Given the description of an element on the screen output the (x, y) to click on. 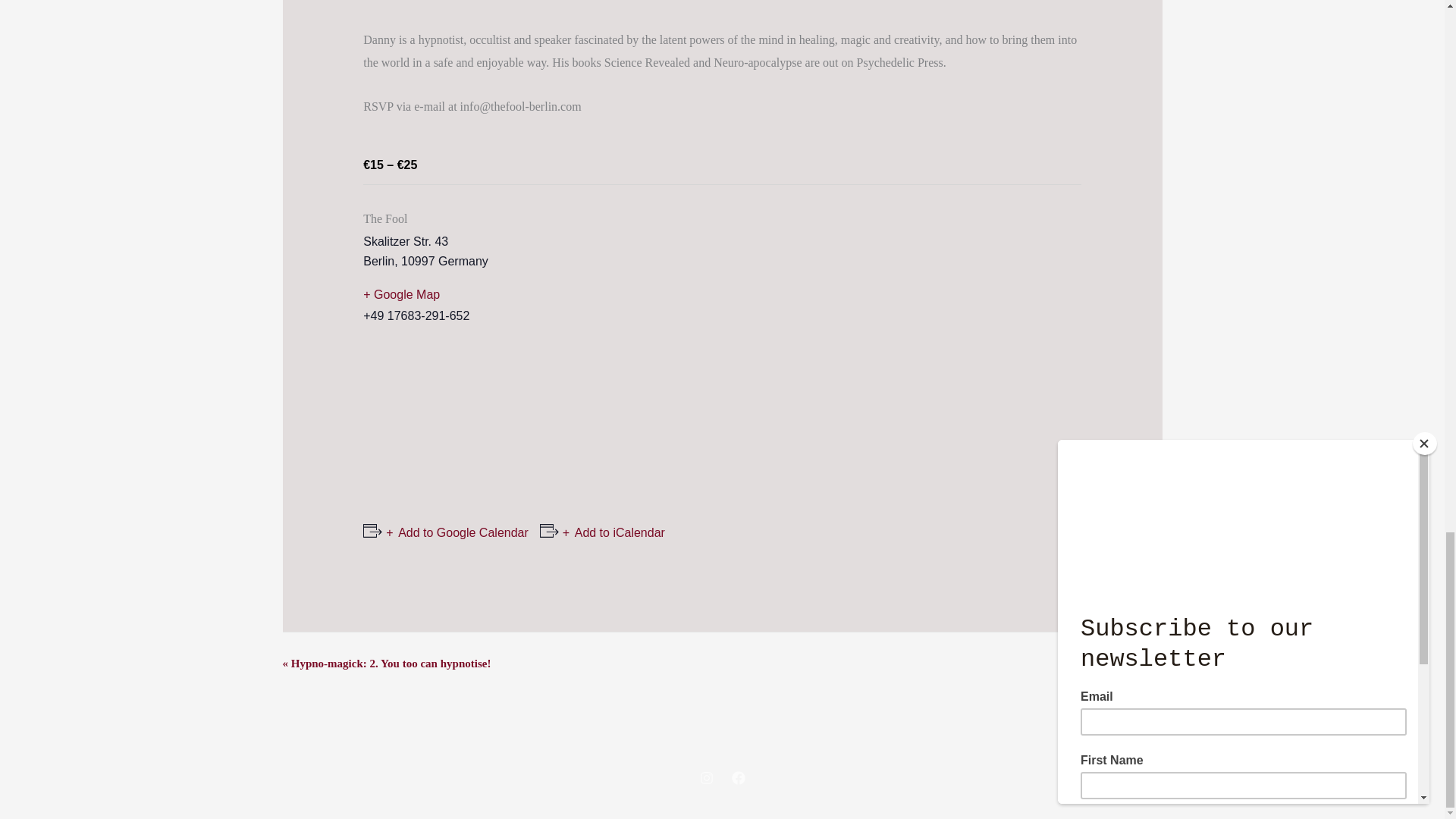
Add to iCalendar (613, 532)
Add to Google Calendar (456, 532)
Click to view a Google Map (488, 294)
Add to iCalendar (613, 532)
Add to Google Calendar (456, 532)
